Given the description of an element on the screen output the (x, y) to click on. 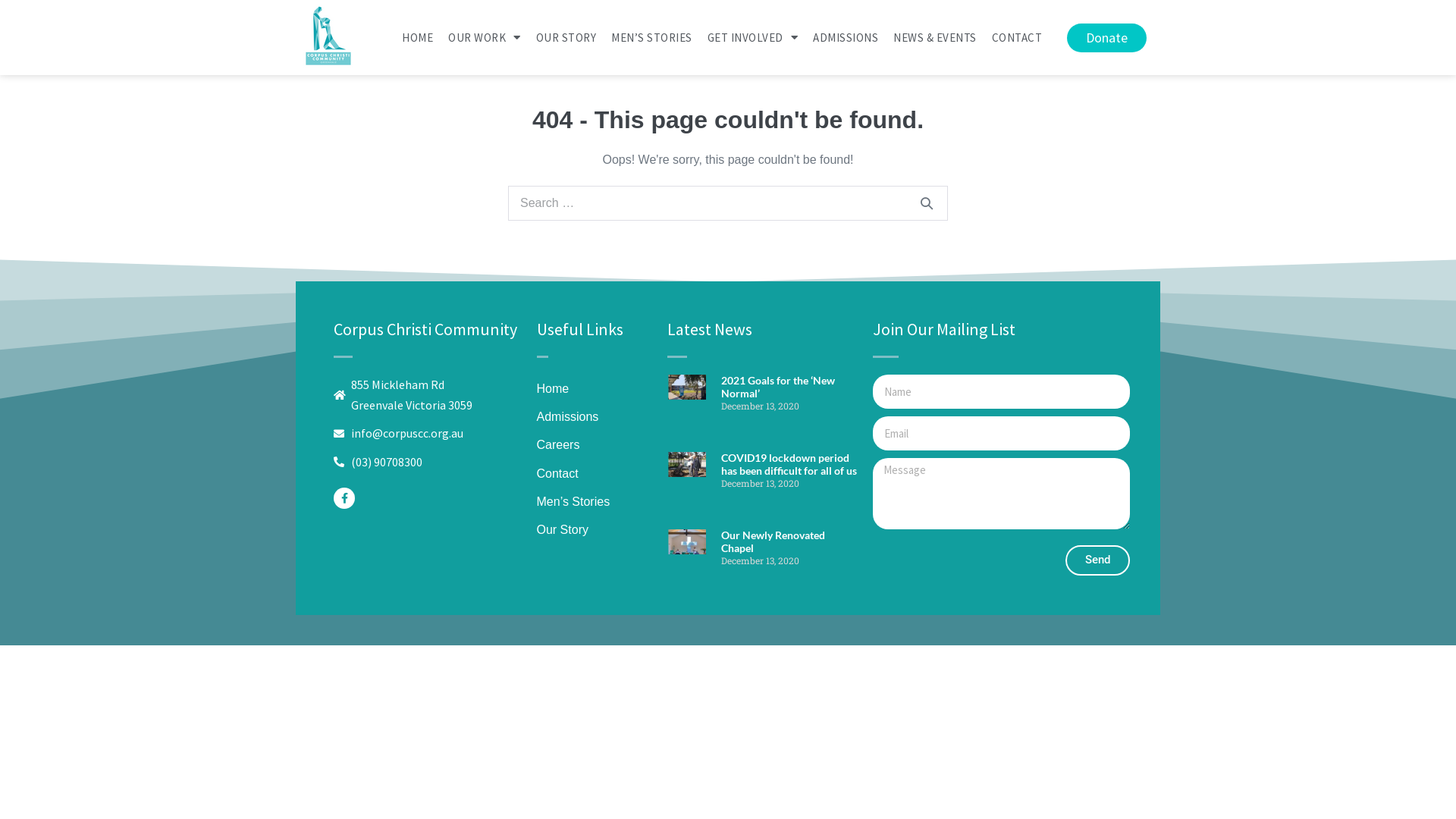
HOME Element type: text (417, 36)
Contact Element type: text (557, 473)
COVID19 lockdown period has been difficult for all of us Element type: text (788, 463)
Our Newly Renovated Chapel Element type: text (773, 541)
OUR STORY Element type: text (565, 36)
Donate Element type: text (1106, 36)
CONTACT Element type: text (1016, 36)
GET INVOLVED Element type: text (751, 36)
OUR WORK Element type: text (484, 36)
Careers Element type: text (558, 444)
Press enter to search Element type: hover (727, 202)
Search Element type: text (926, 202)
Home Element type: text (552, 388)
ADMISSIONS Element type: text (845, 36)
Admissions Element type: text (567, 416)
Send Element type: text (1097, 560)
NEWS & EVENTS Element type: text (934, 36)
Our Story Element type: text (562, 529)
